Given the description of an element on the screen output the (x, y) to click on. 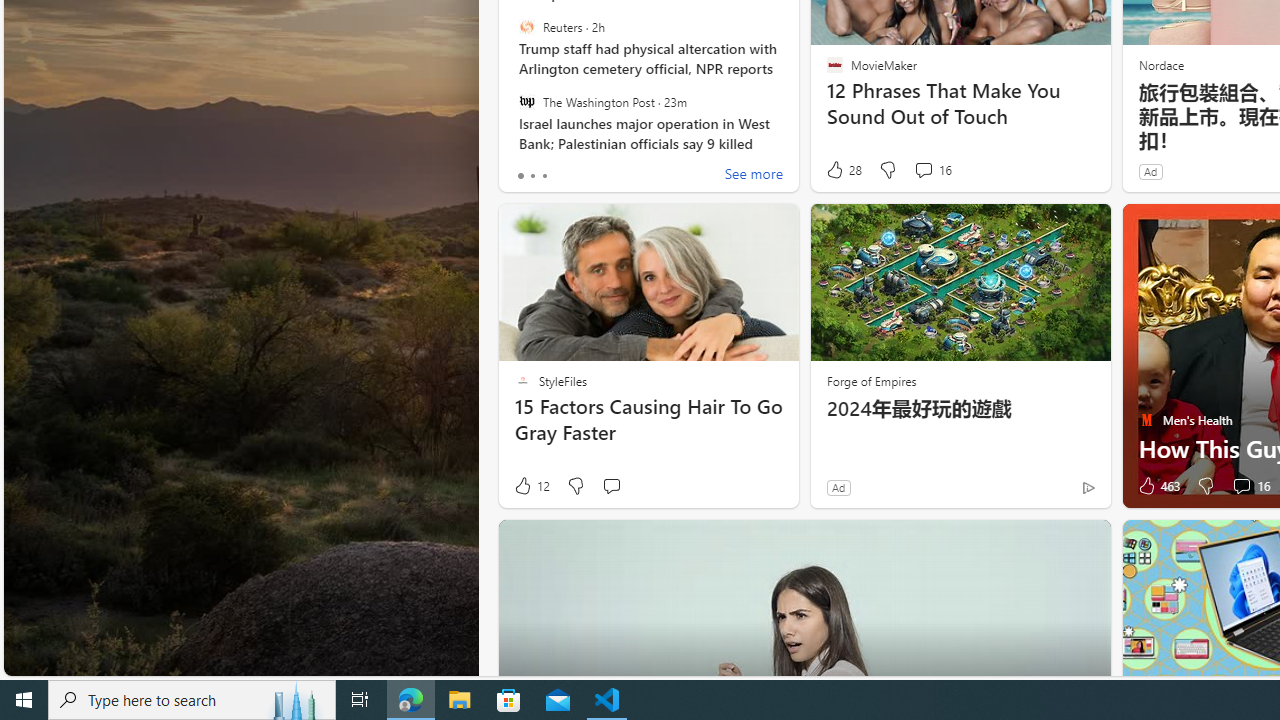
tab-0 (520, 175)
Ad (838, 487)
Forge of Empires (870, 380)
See more (753, 175)
Reuters (526, 27)
tab-2 (543, 175)
12 Like (531, 485)
28 Like (843, 170)
Start the conversation (610, 485)
Dislike (1204, 485)
463 Like (1157, 485)
The Washington Post (526, 101)
Ad Choice (1087, 487)
